Given the description of an element on the screen output the (x, y) to click on. 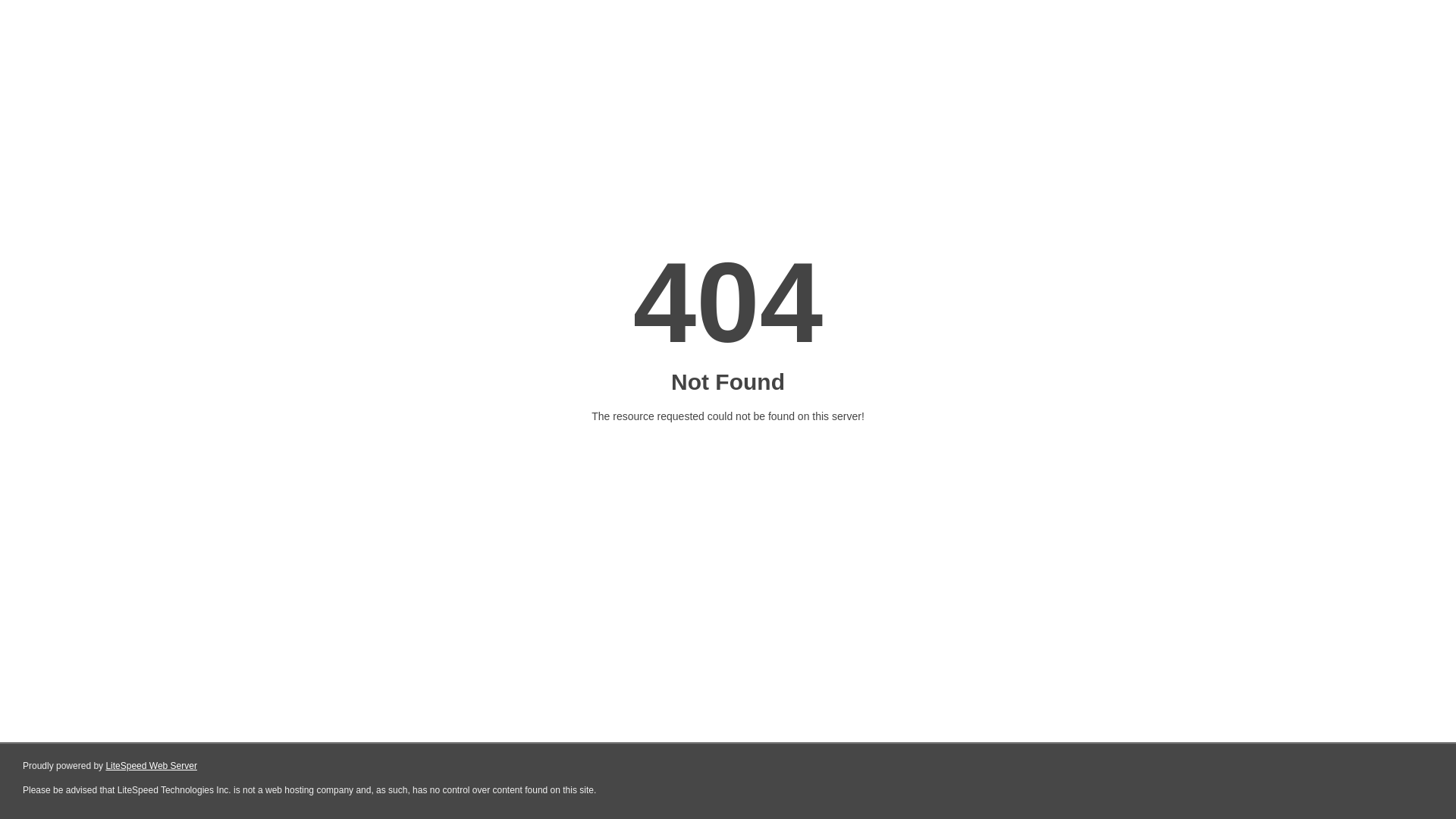
LiteSpeed Web Server Element type: text (151, 765)
